Given the description of an element on the screen output the (x, y) to click on. 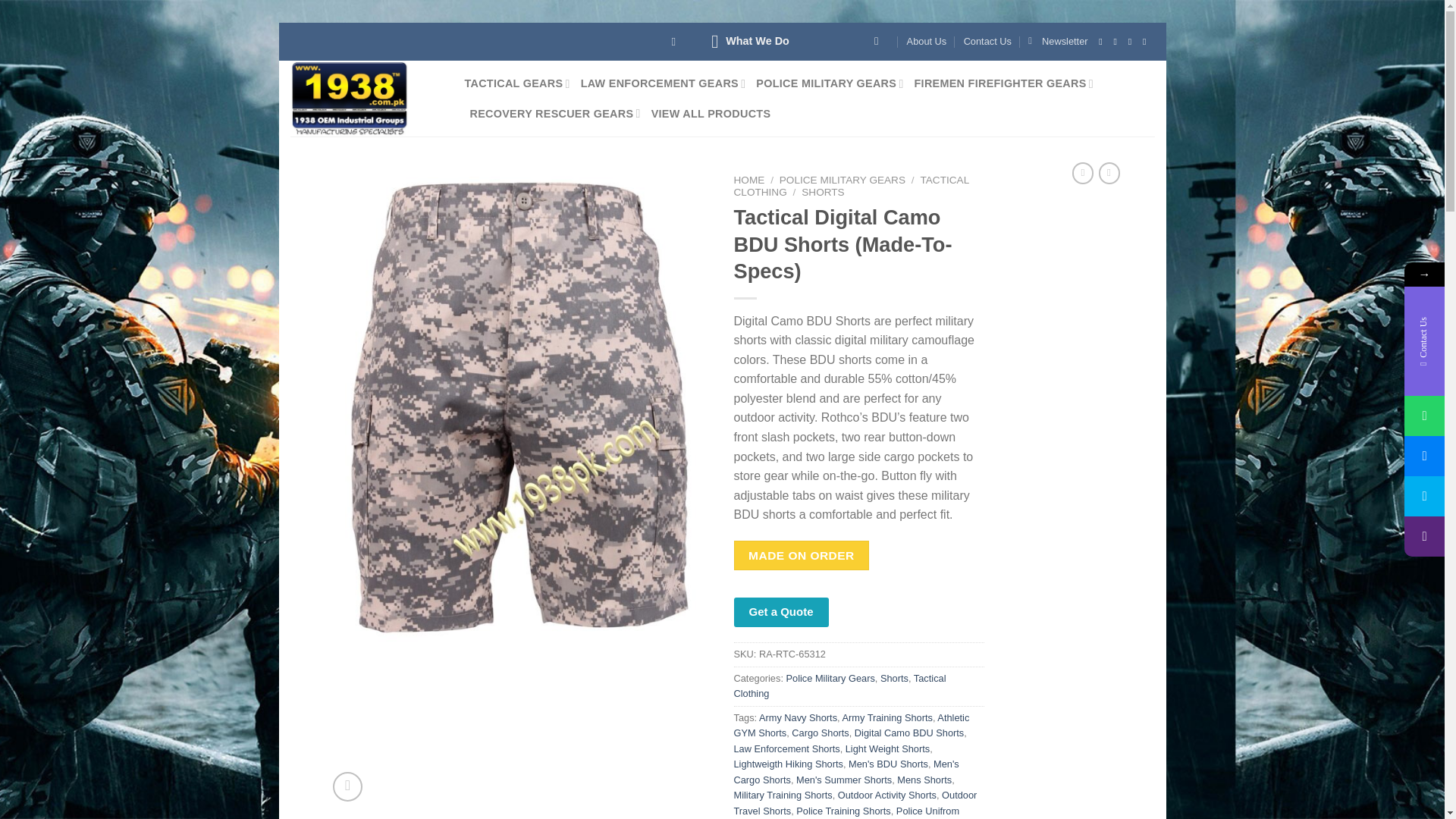
Zoom (347, 786)
LAW ENFORCEMENT GEARS (662, 83)
TACTICAL GEARS (516, 83)
